Given the description of an element on the screen output the (x, y) to click on. 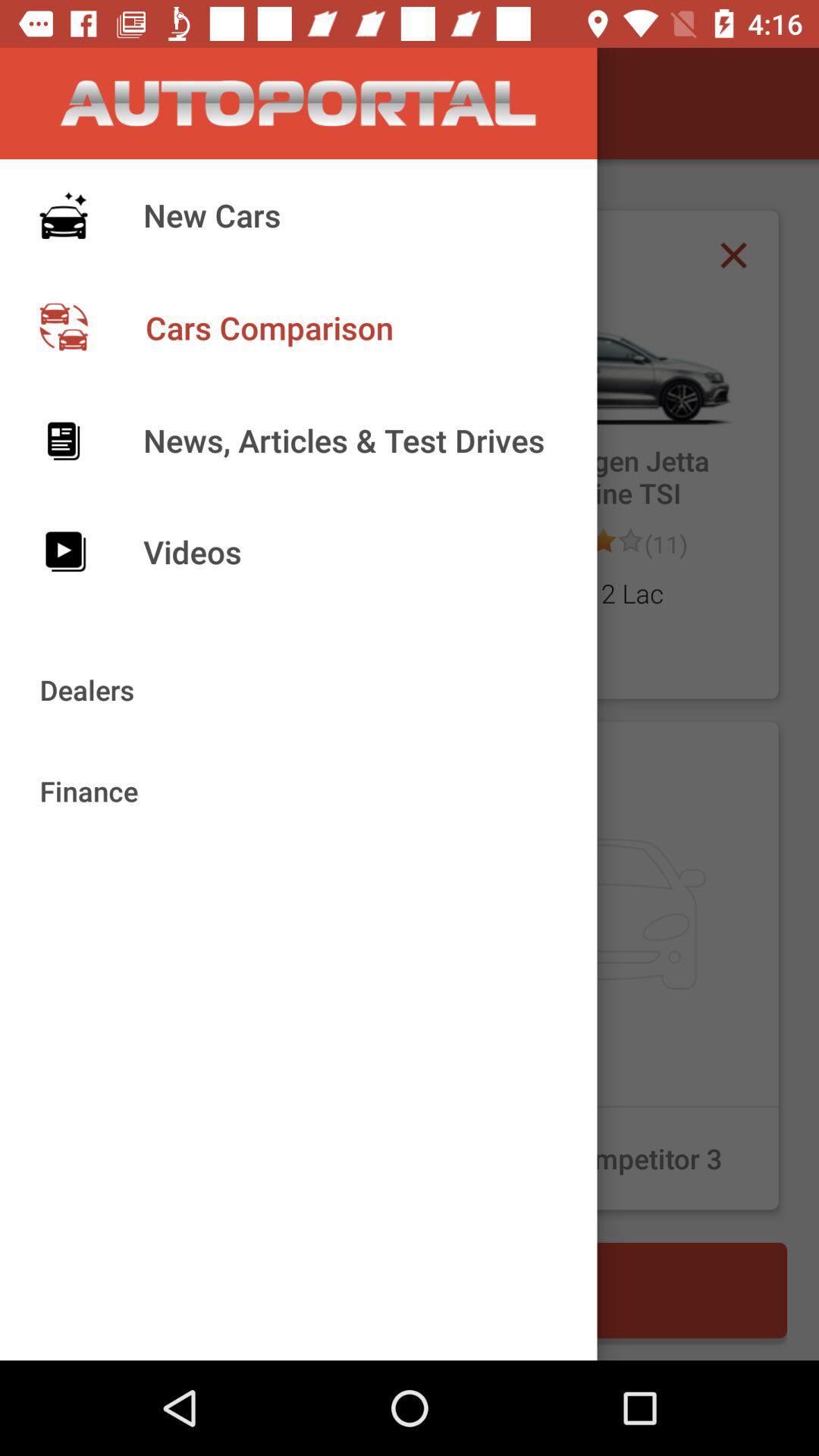
click on finance (220, 965)
